Given the description of an element on the screen output the (x, y) to click on. 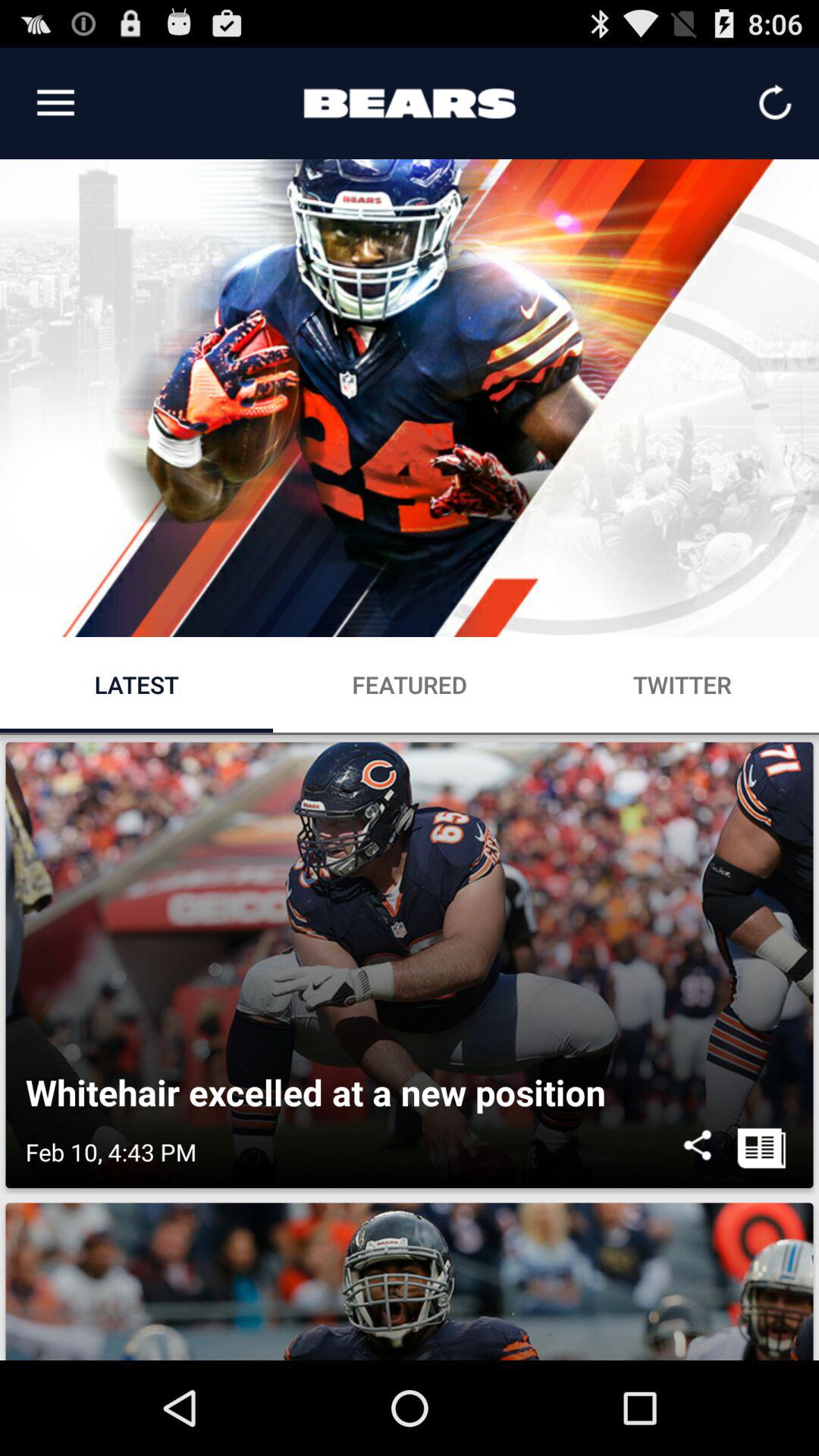
turn off the icon below whitehair excelled at (697, 1152)
